Given the description of an element on the screen output the (x, y) to click on. 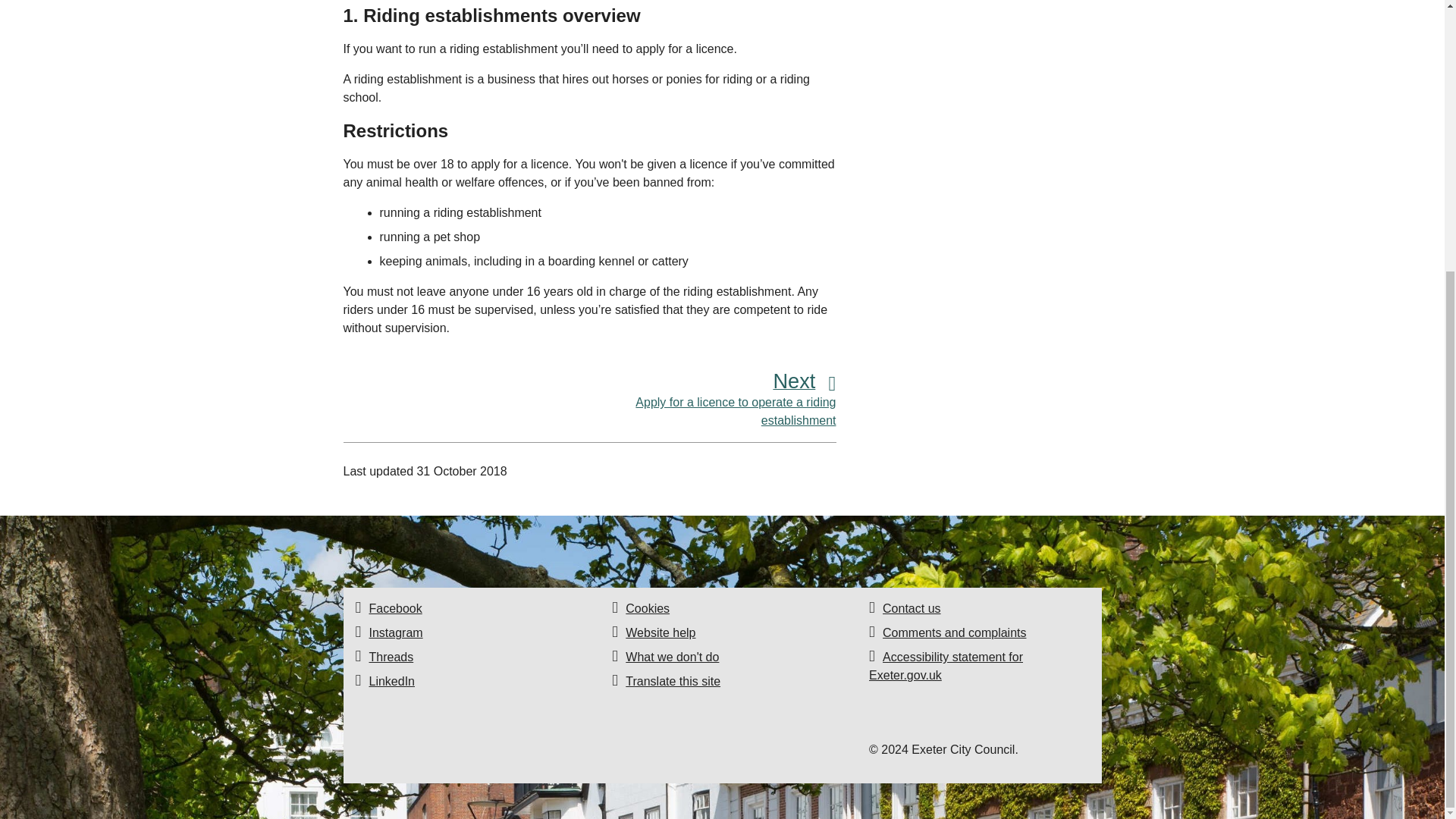
Accessibility statement for Exeter.gov.uk (946, 665)
Instagram (395, 632)
LinkedIn (391, 680)
Threads (390, 656)
What we don't do (672, 656)
Contact us (911, 608)
Comments and complaints (954, 632)
Facebook (712, 400)
Cookies (395, 608)
